Given the description of an element on the screen output the (x, y) to click on. 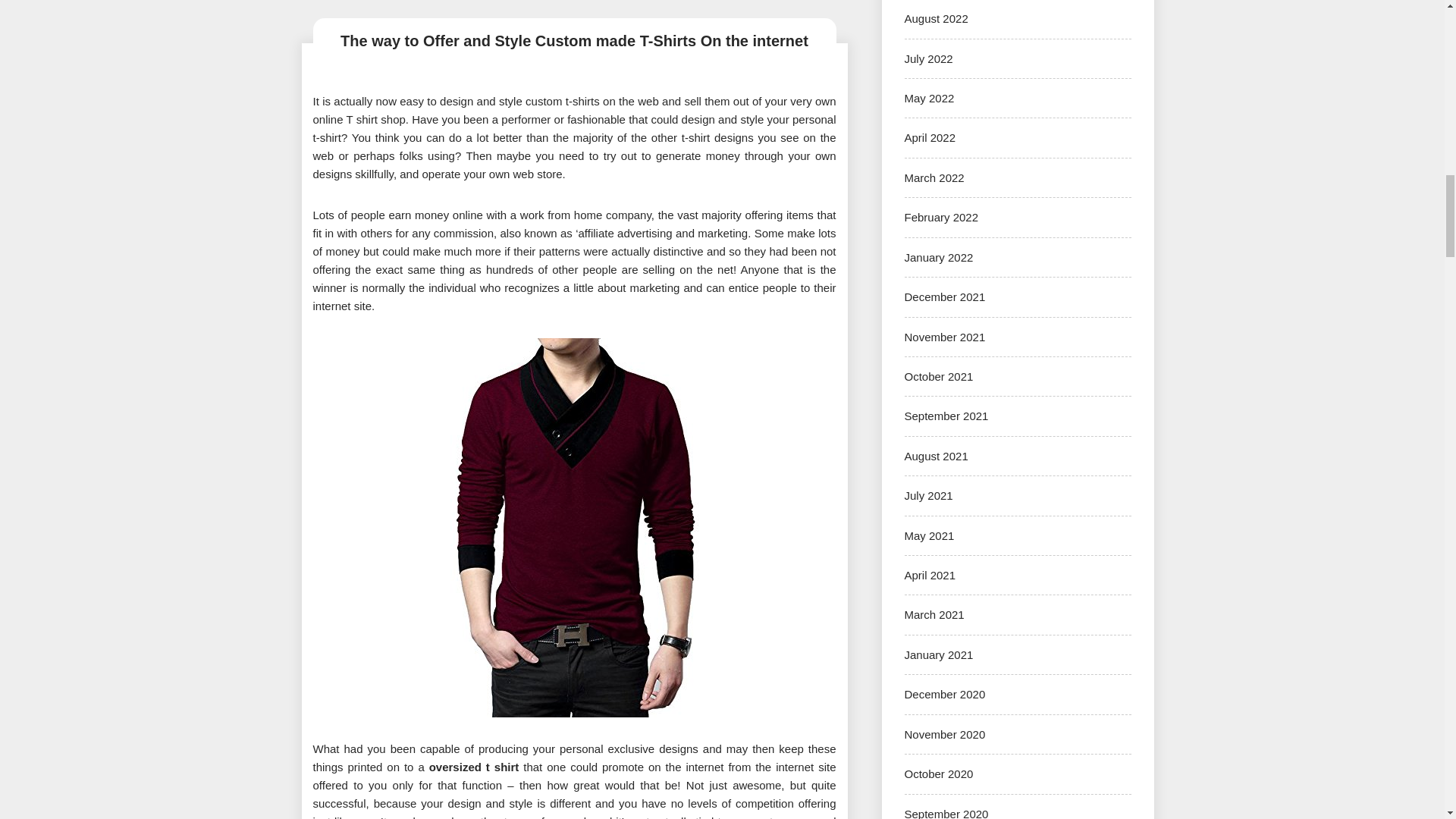
oversized t shirt (474, 766)
